Given the description of an element on the screen output the (x, y) to click on. 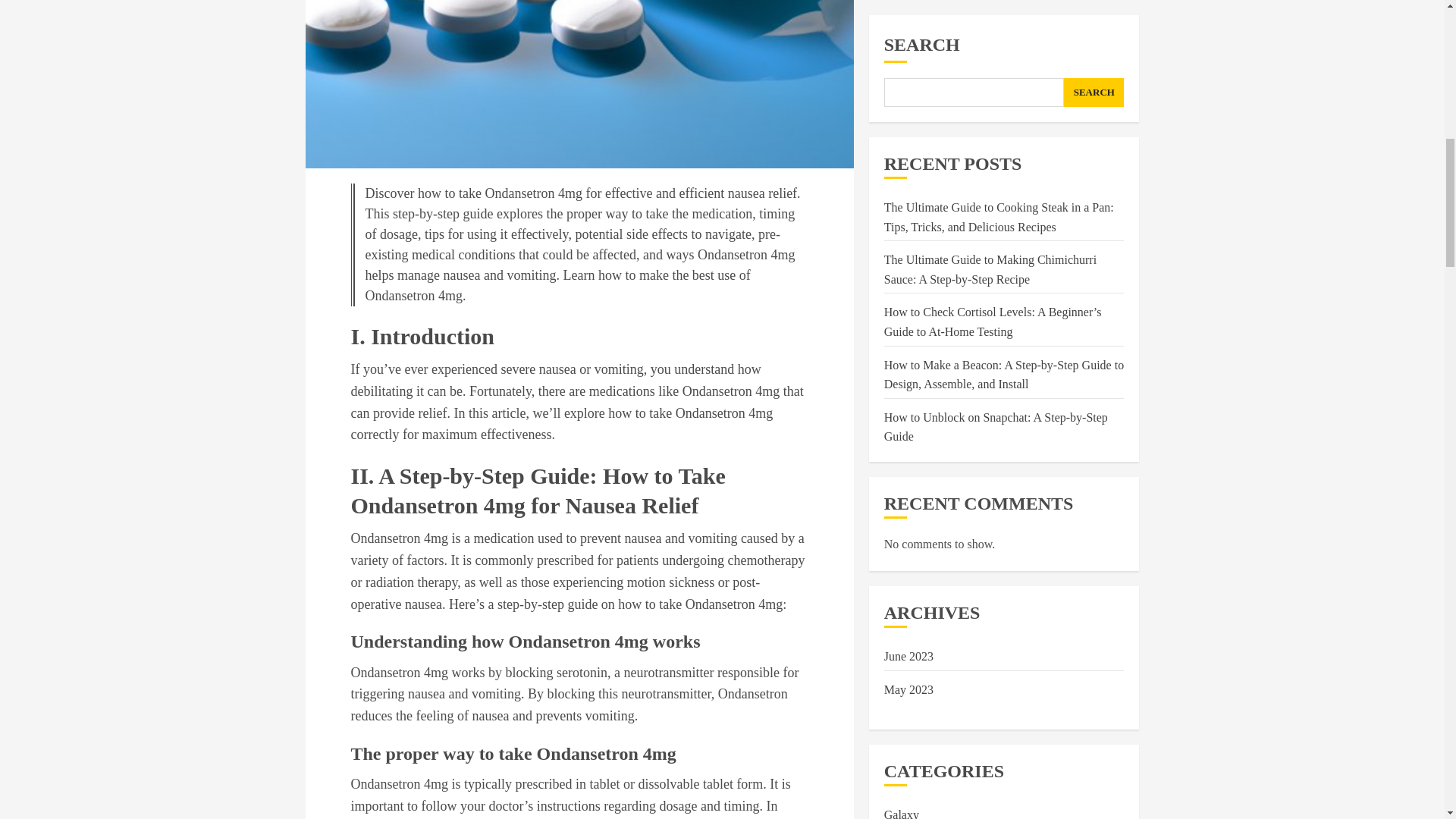
May 2023 (908, 138)
Galaxy (900, 264)
June 2023 (908, 105)
